Given the description of an element on the screen output the (x, y) to click on. 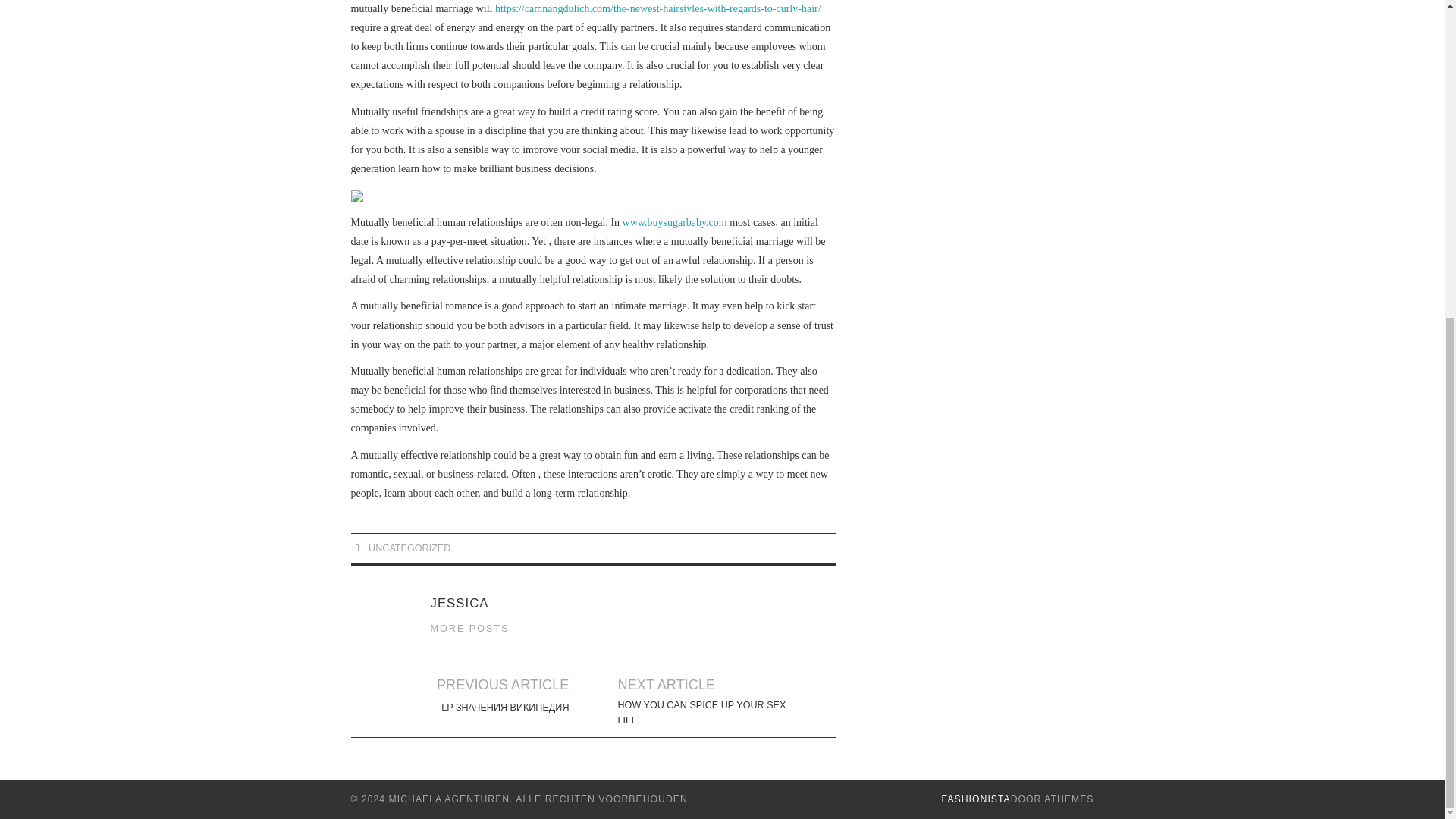
MORE POSTS (469, 628)
HOW YOU CAN SPICE UP YOUR SEX LIFE (702, 712)
FASHIONISTA (976, 798)
www.buysugarbaby.com (674, 222)
UNCATEGORIZED (408, 547)
